Given the description of an element on the screen output the (x, y) to click on. 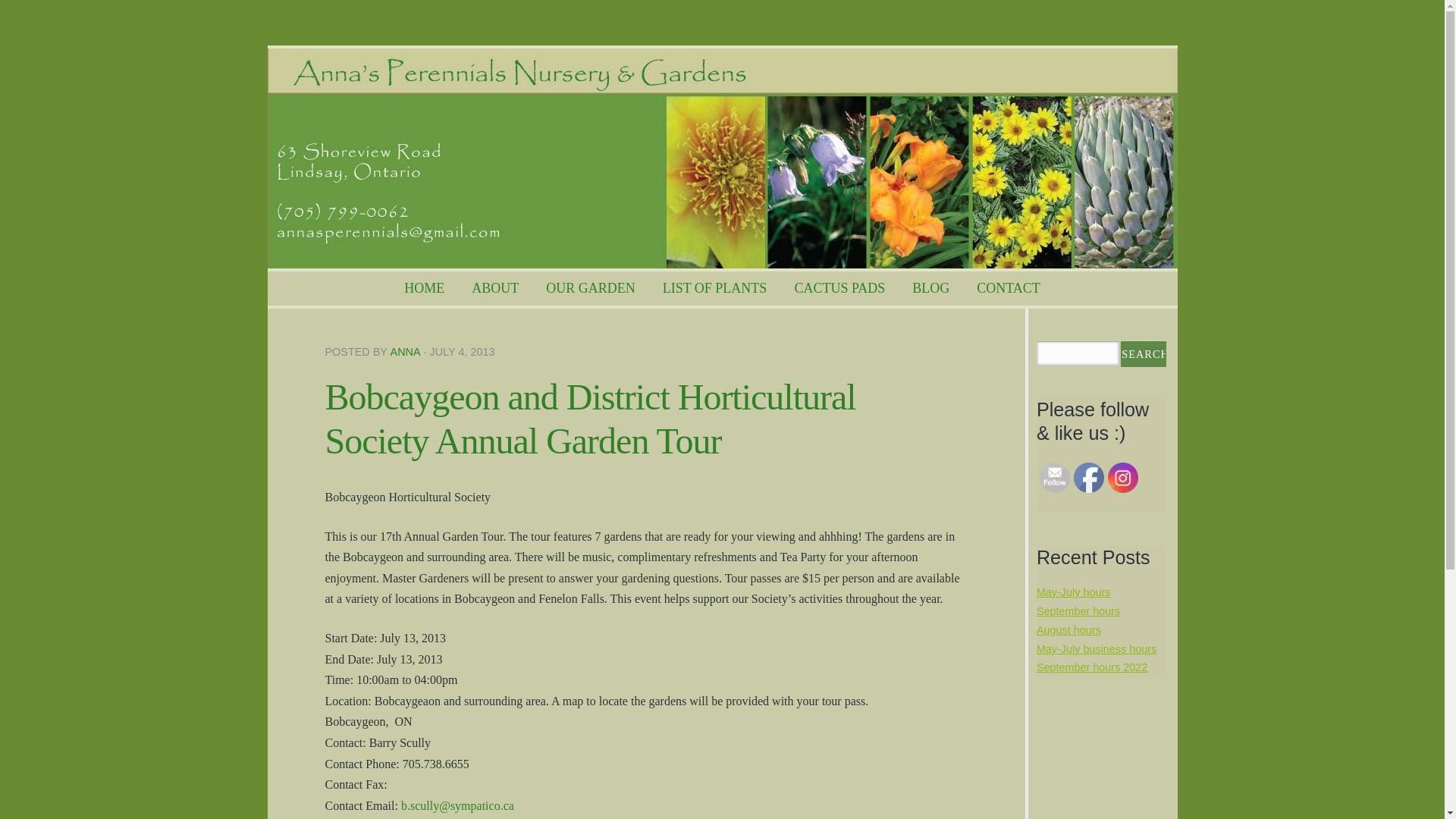
Search (1143, 353)
Facebook (1088, 477)
September hours 2022 (1091, 666)
Anna (405, 351)
Search (1143, 353)
BLOG (930, 288)
Plant List for Sale (714, 288)
May-July hours (1073, 592)
Contact Us (1008, 288)
September hours (1077, 611)
LIST OF PLANTS (714, 288)
All About Annas Perennials (495, 288)
CONTACT (1008, 288)
ABOUT (495, 288)
